Given the description of an element on the screen output the (x, y) to click on. 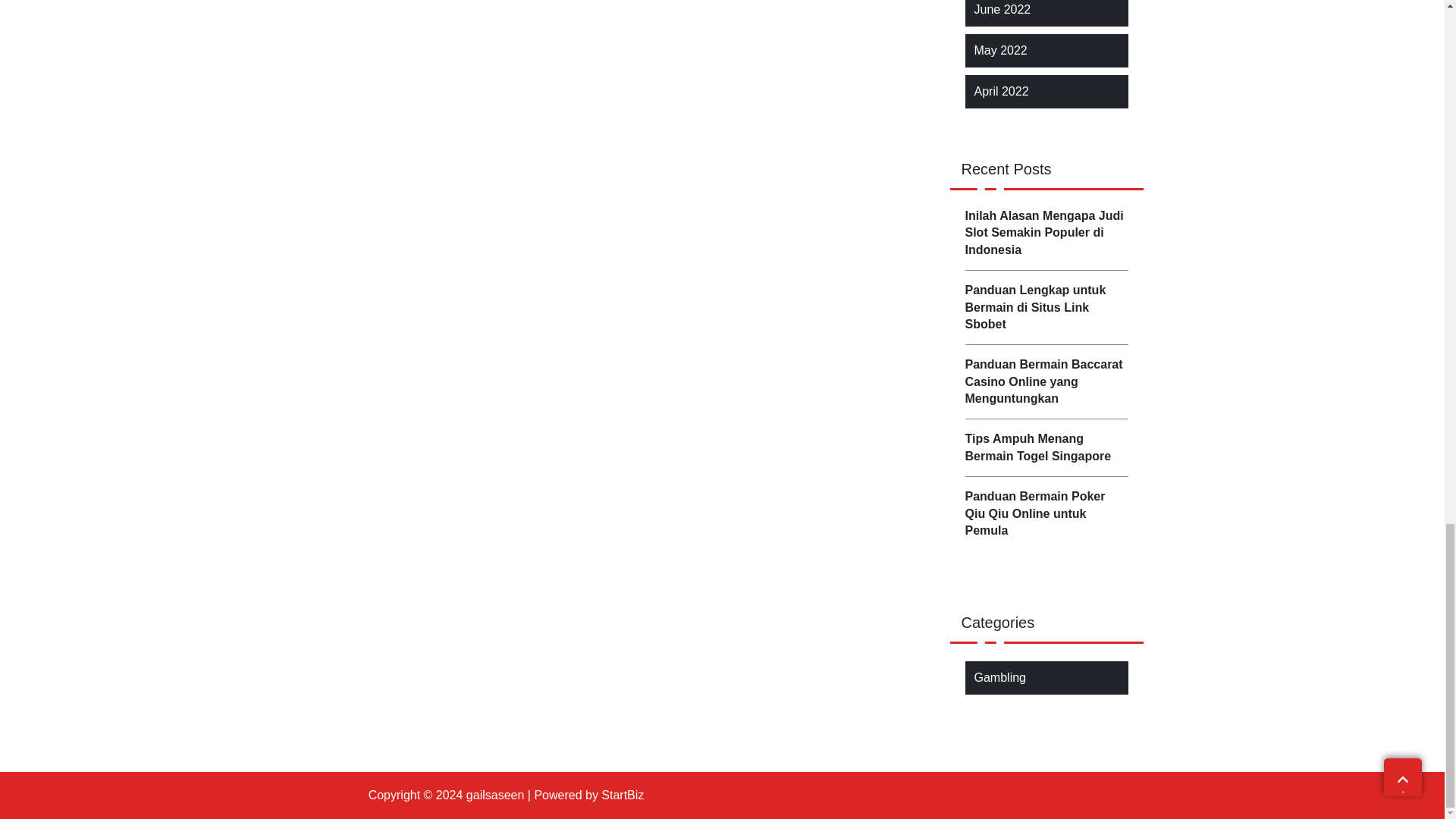
June 2022 (1002, 9)
May 2022 (1000, 50)
